Given the description of an element on the screen output the (x, y) to click on. 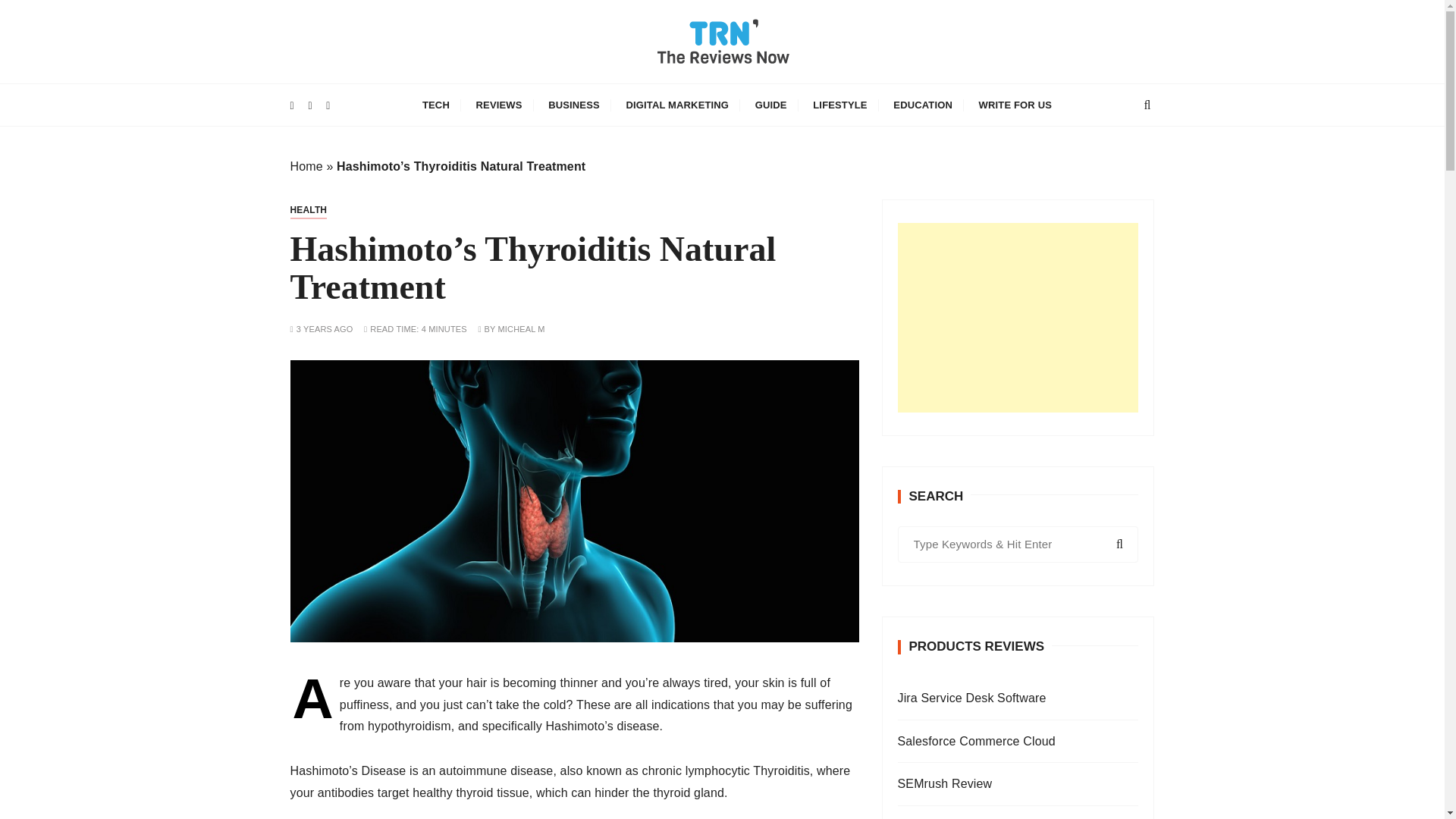
TECH (435, 105)
Jira Service Desk Software (1018, 698)
REVIEWS (499, 105)
HEALTH (307, 209)
DIGITAL MARKETING (676, 105)
MICHEAL M (520, 329)
GUIDE (770, 105)
Advertisement (1018, 317)
EDUCATION (922, 105)
Home (305, 165)
